Given the description of an element on the screen output the (x, y) to click on. 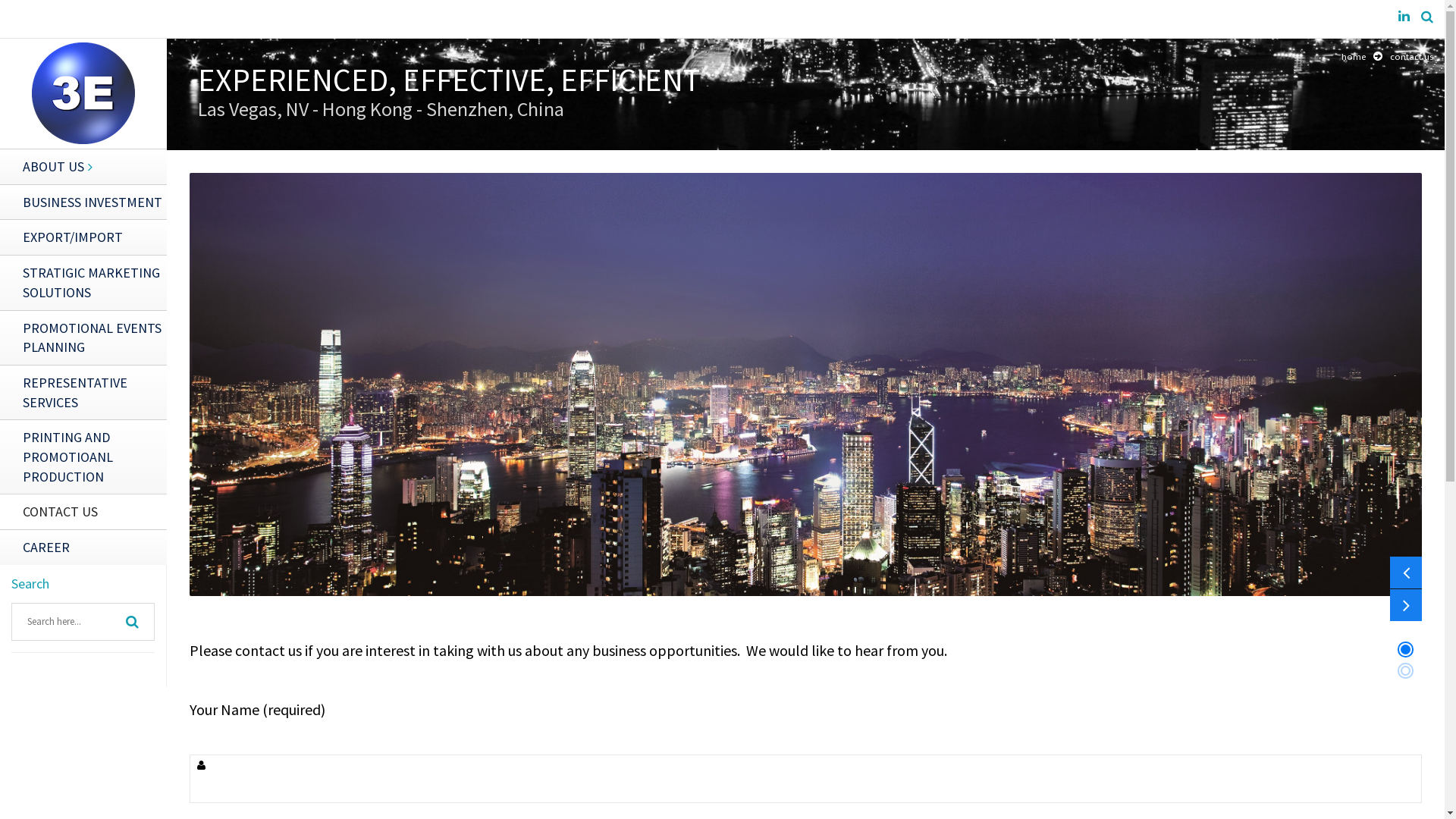
1 Element type: text (1405, 649)
2 Element type: text (1405, 670)
home Element type: text (1353, 56)
STRATIGIC MARKETING SOLUTIONS Element type: text (83, 281)
Follow Us Element type: hover (1403, 16)
PRINTING AND PROMOTIOANL PRODUCTION Element type: text (83, 456)
CAREER Element type: text (83, 546)
Previous Element type: text (1405, 572)
BUSINESS INVESTMENT Element type: text (83, 201)
Search the Site Element type: hover (1427, 17)
ABOUT US Element type: text (83, 166)
Next Element type: text (1405, 605)
3E Promotions LLC Element type: hover (82, 91)
REPRESENTATIVE SERVICES Element type: text (83, 391)
CONTACT US Element type: text (83, 511)
EXPORT/IMPORT Element type: text (83, 236)
PROMOTIONAL EVENTS PLANNING Element type: text (83, 337)
